Given the description of an element on the screen output the (x, y) to click on. 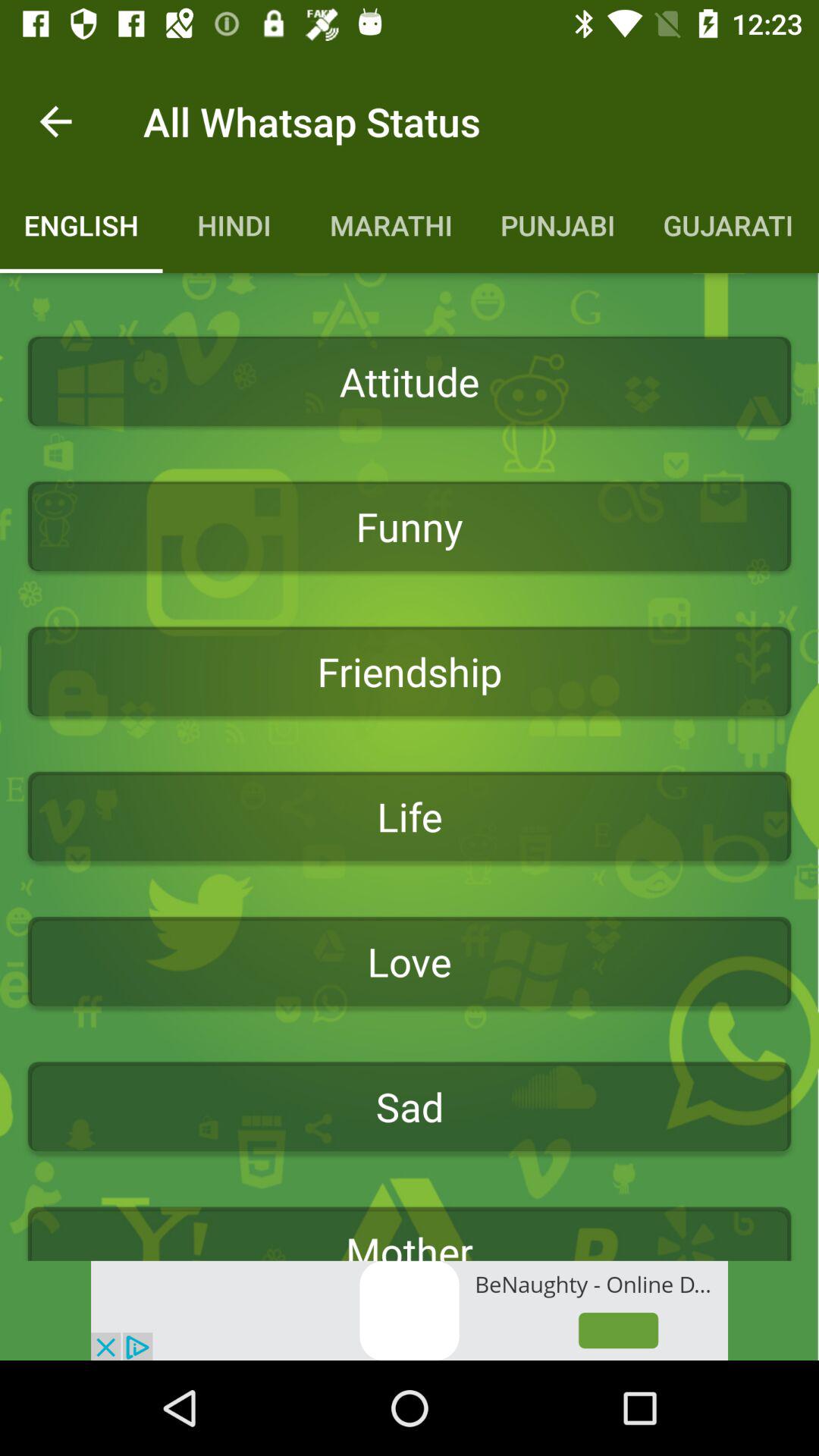
know about the advertisement (409, 1310)
